Given the description of an element on the screen output the (x, y) to click on. 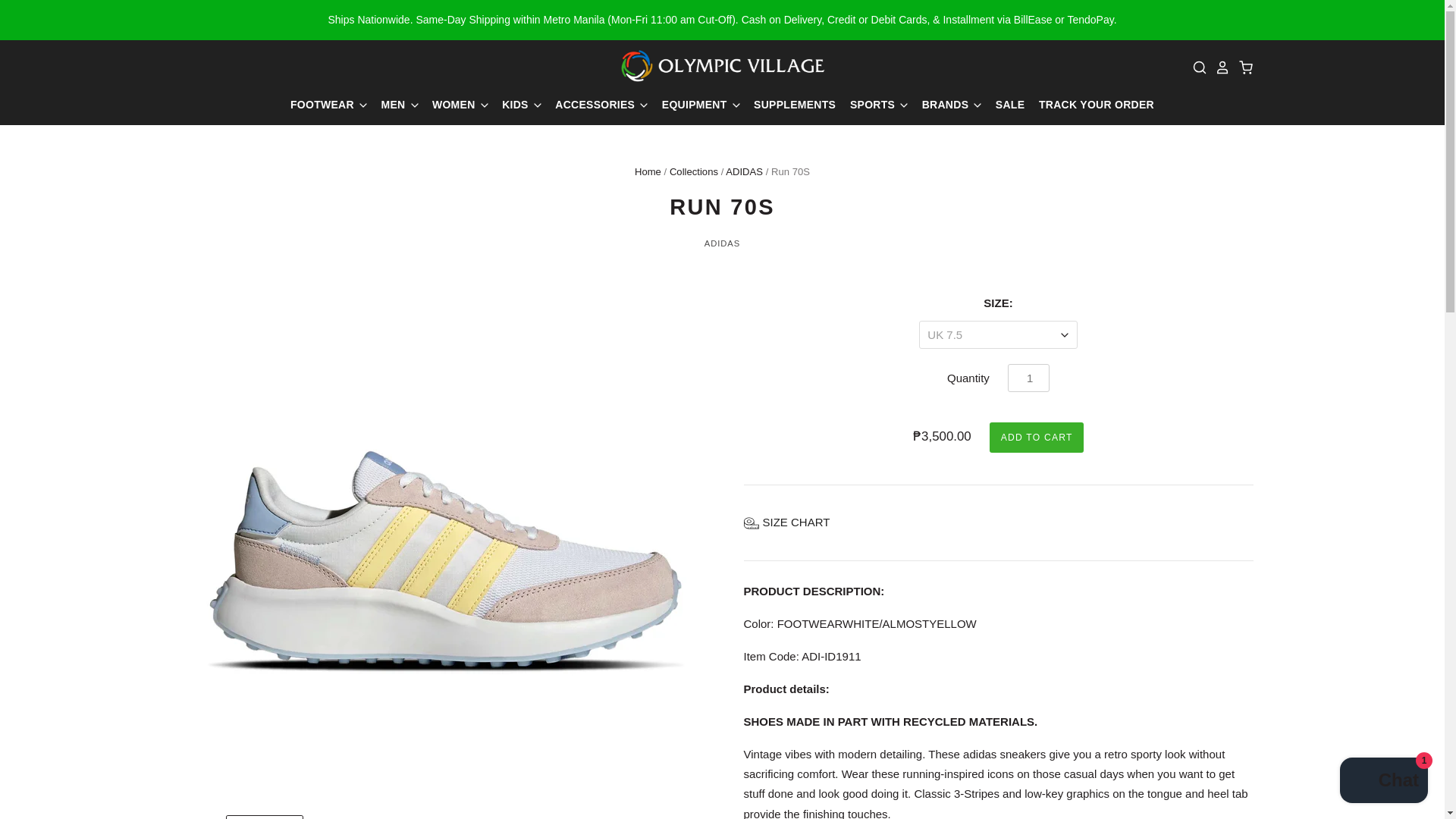
Shopify online store chat (1383, 781)
1 (1028, 377)
Add to cart (1036, 437)
